Given the description of an element on the screen output the (x, y) to click on. 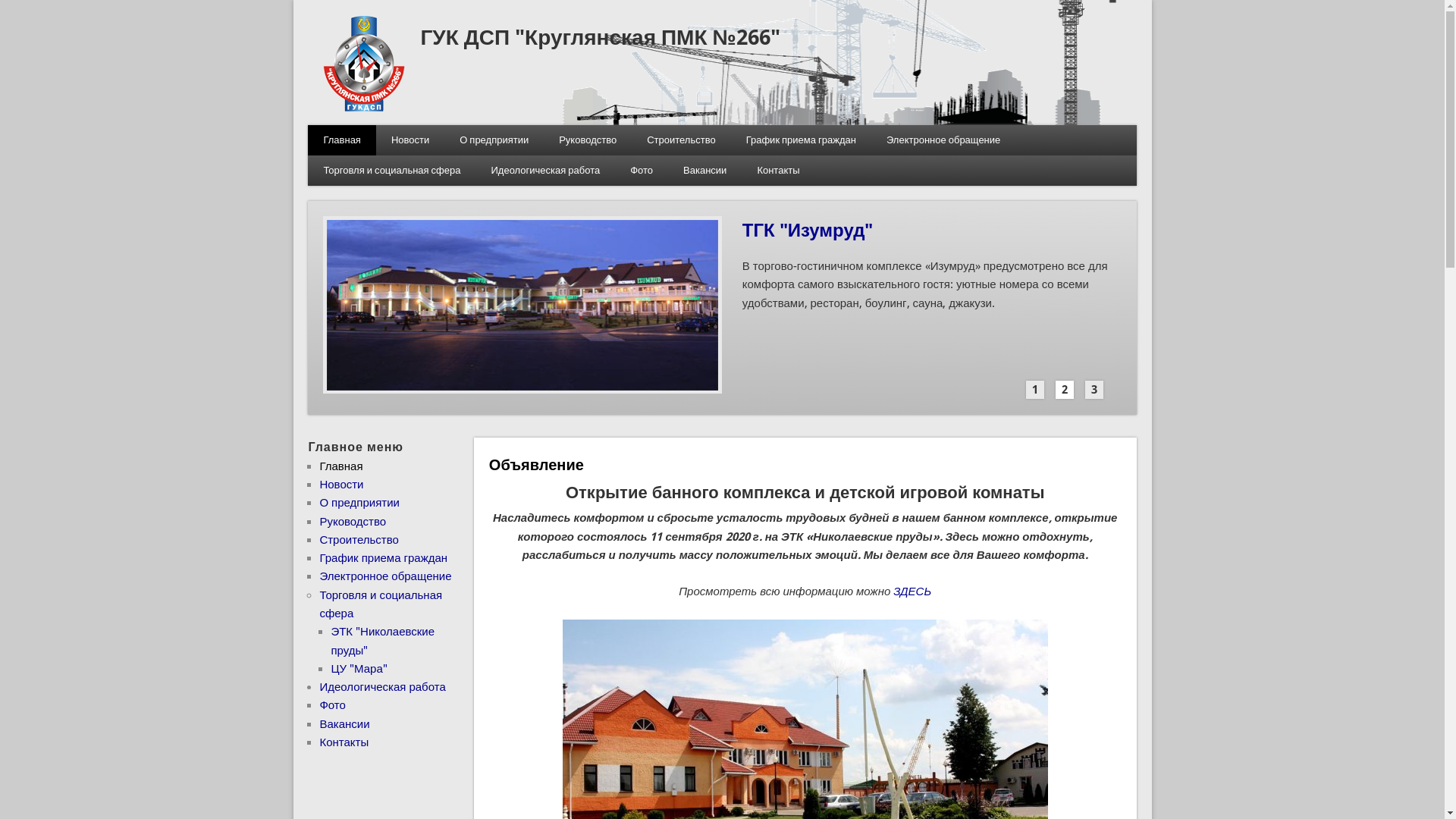
1 Element type: text (1035, 389)
2 Element type: text (1064, 389)
3 Element type: text (1094, 389)
